Given the description of an element on the screen output the (x, y) to click on. 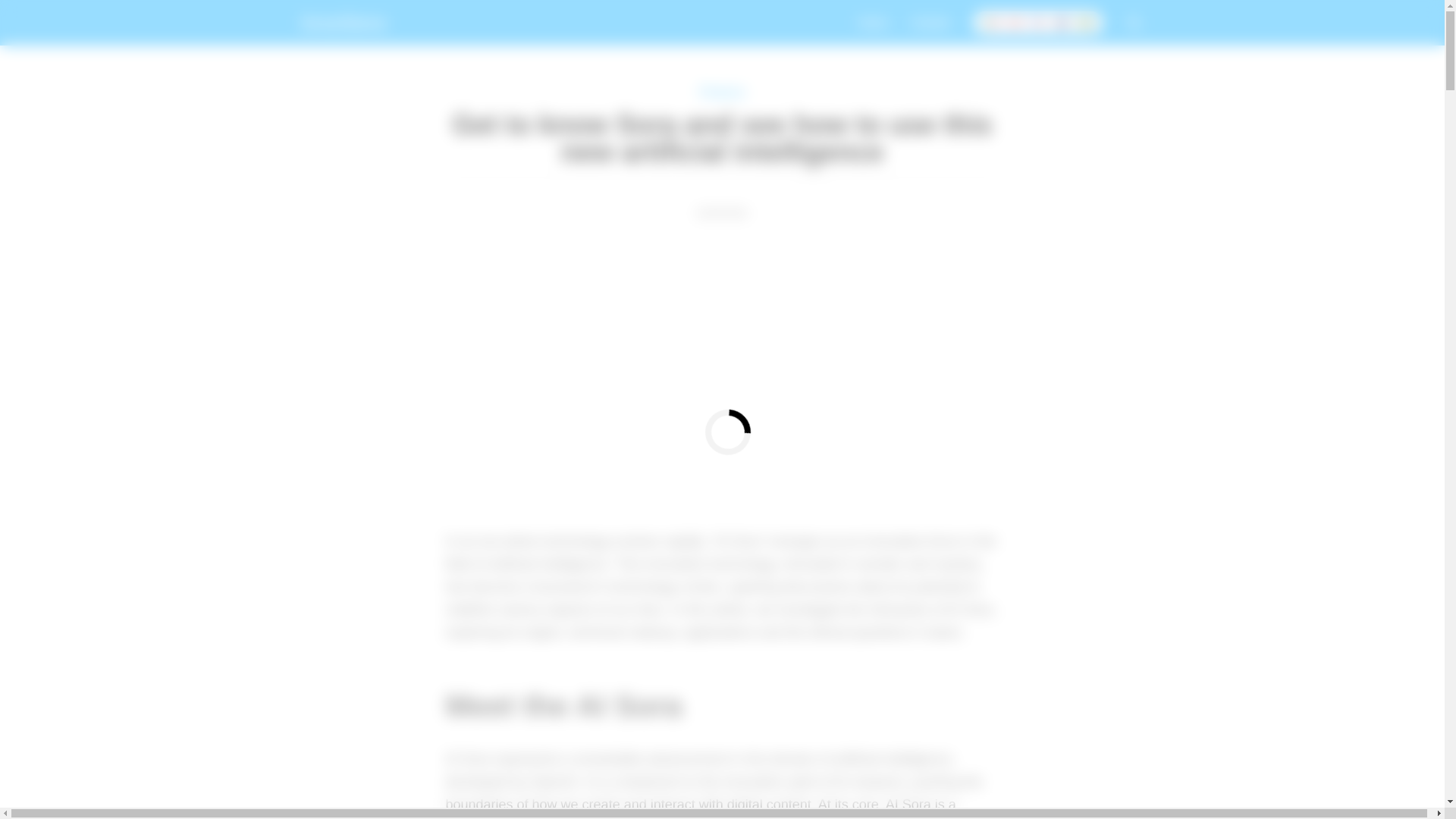
Home (873, 23)
Busca (1133, 22)
Brasiliana (343, 22)
brasiliana (343, 22)
Contact (930, 23)
Busca (1134, 21)
Finance (721, 91)
